Given the description of an element on the screen output the (x, y) to click on. 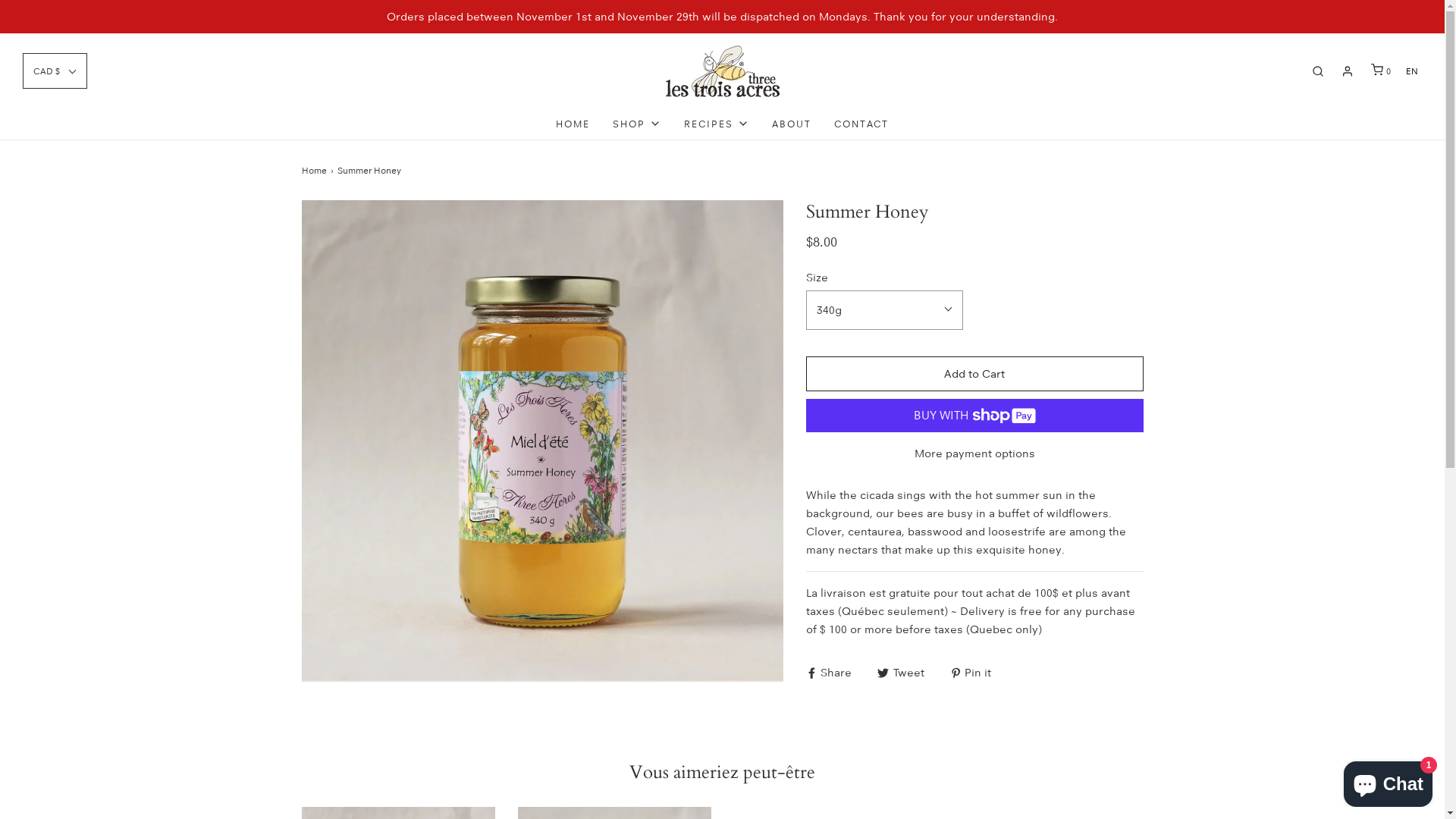
Home Element type: text (315, 170)
ABOUT Element type: text (791, 123)
Add to Cart Element type: text (973, 374)
Share Element type: text (829, 671)
Search Element type: hover (1424, 7)
SHOP Element type: text (636, 123)
Tweet Element type: text (901, 671)
CONTACT Element type: text (861, 123)
Log in Element type: hover (1347, 71)
Pin it Element type: text (969, 671)
0 Element type: text (1379, 70)
CAD $ Element type: text (54, 70)
RECIPES Element type: text (716, 123)
340g Element type: text (884, 309)
Search Element type: hover (1317, 71)
HOME Element type: text (572, 123)
More payment options Element type: text (973, 453)
Shopify online store chat Element type: hover (1388, 780)
